Given the description of an element on the screen output the (x, y) to click on. 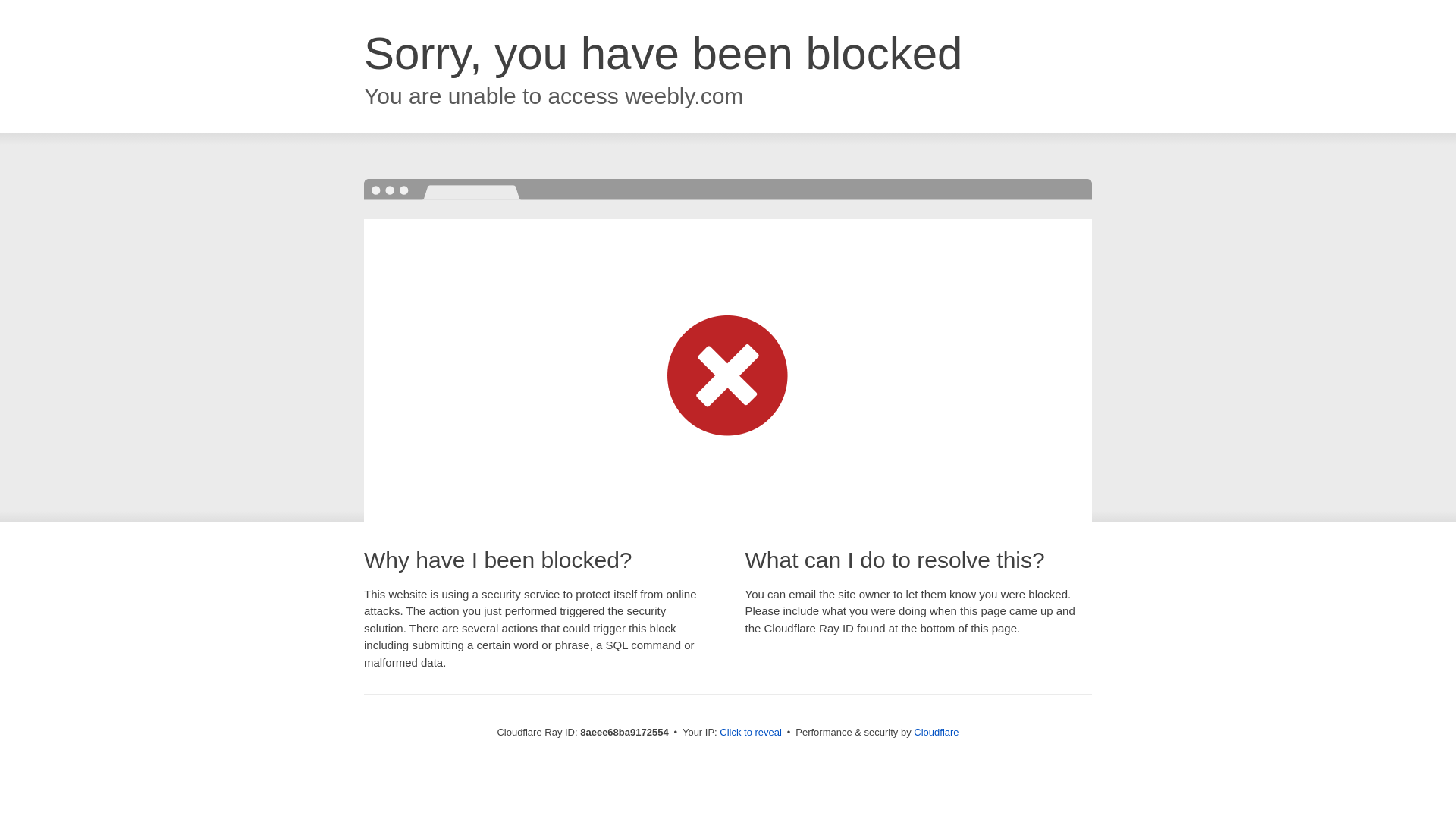
Click to reveal (750, 732)
Cloudflare (936, 731)
